Given the description of an element on the screen output the (x, y) to click on. 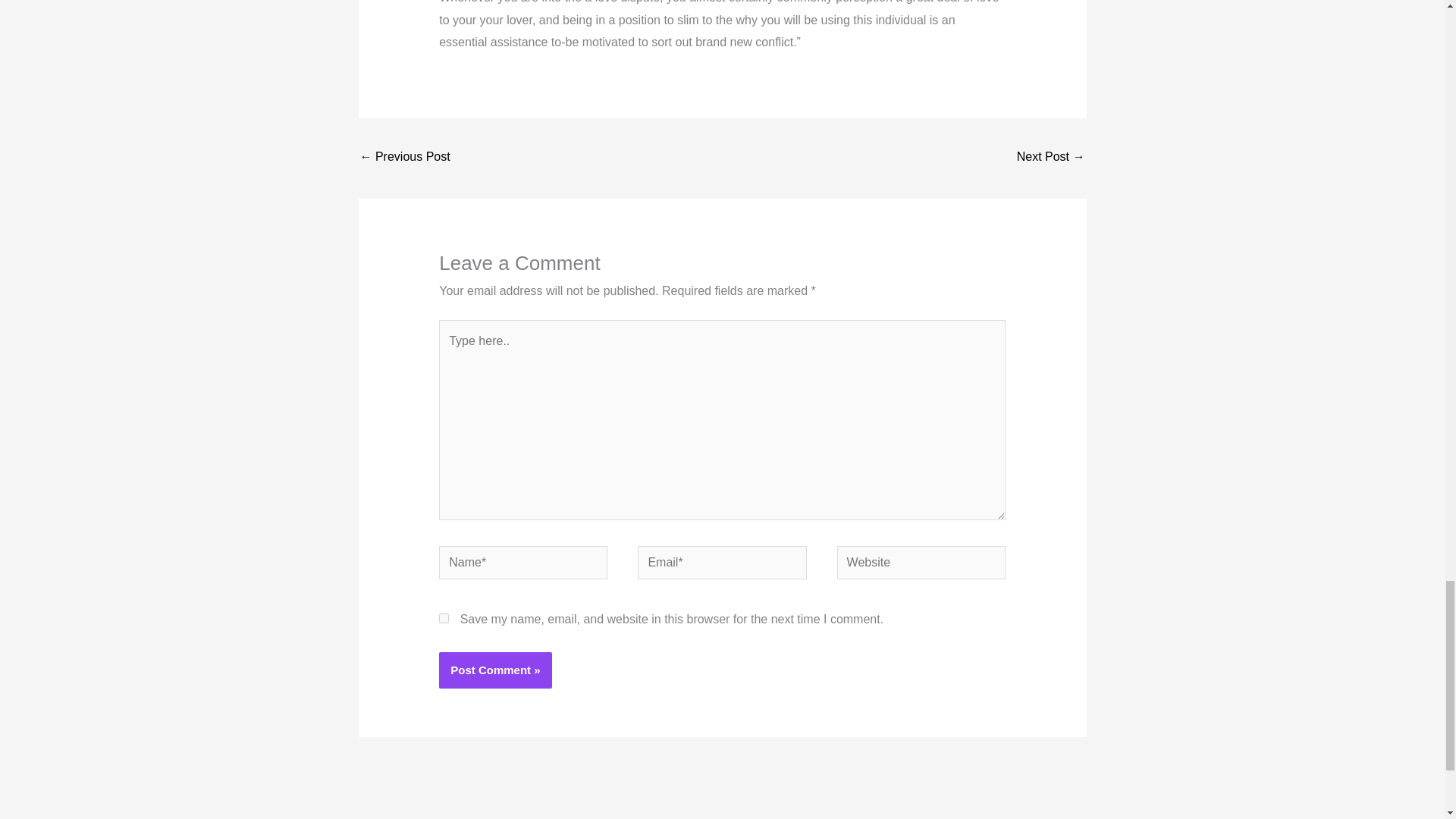
yes (443, 618)
